Given the description of an element on the screen output the (x, y) to click on. 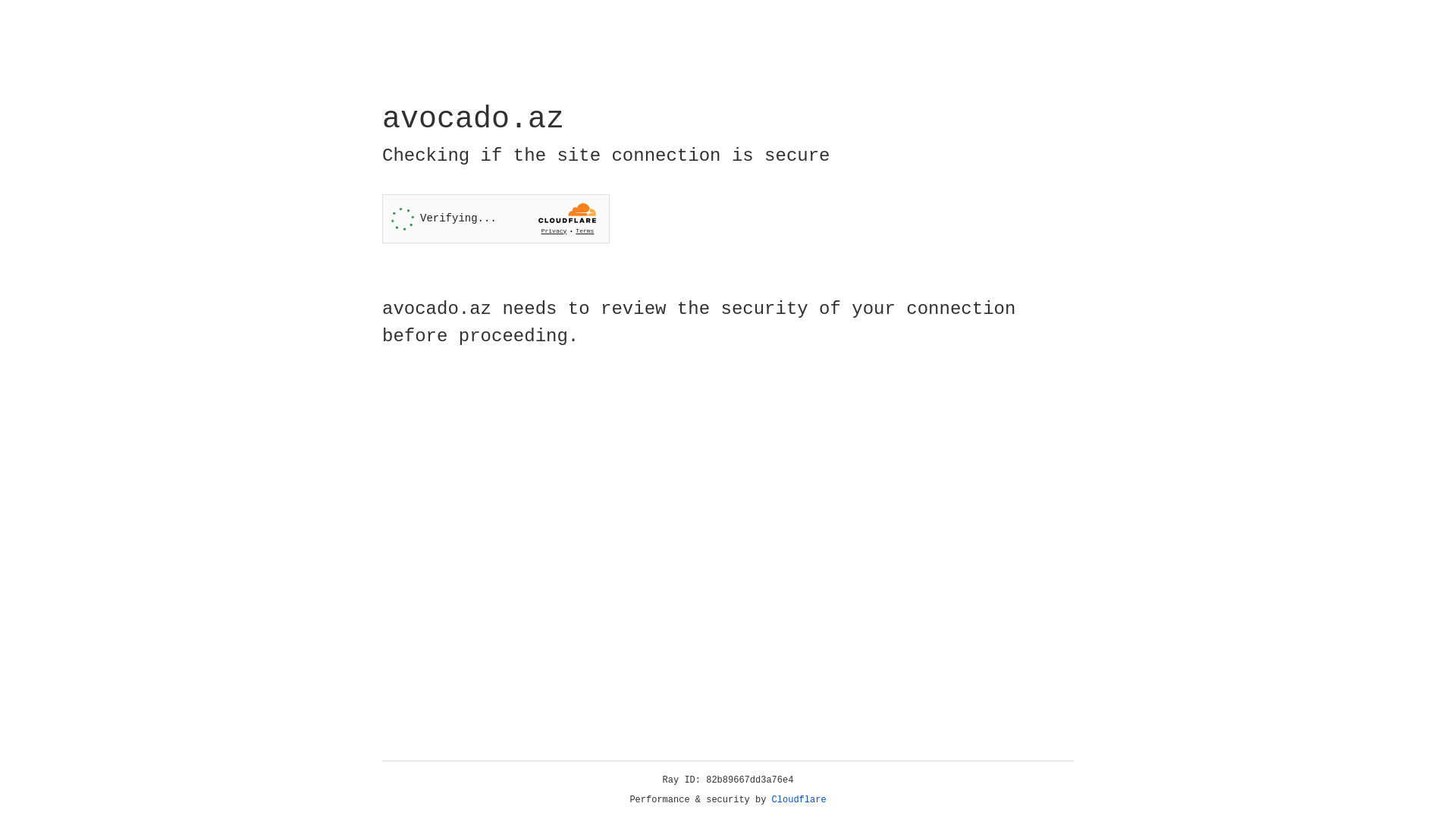
Cloudflare Element type: text (798, 799)
Widget containing a Cloudflare security challenge Element type: hover (495, 218)
